Given the description of an element on the screen output the (x, y) to click on. 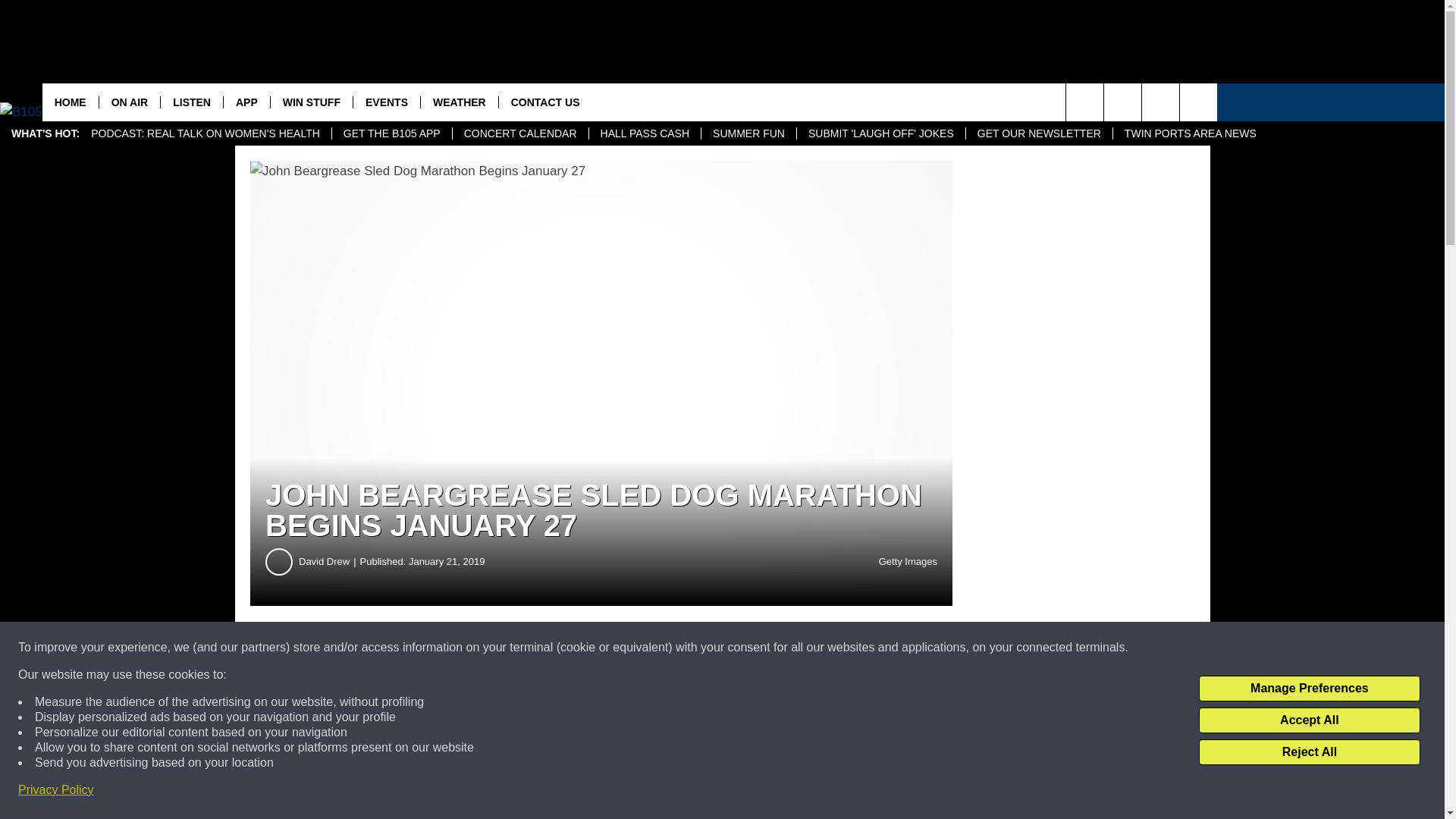
Privacy Policy (55, 789)
HOME (70, 102)
Share on Facebook (460, 647)
LISTEN (191, 102)
ON AIR (129, 102)
SUBMIT 'LAUGH OFF' JOKES (880, 133)
WIN STUFF (310, 102)
CONCERT CALENDAR (519, 133)
APP (245, 102)
GET OUR NEWSLETTER (1038, 133)
